Given the description of an element on the screen output the (x, y) to click on. 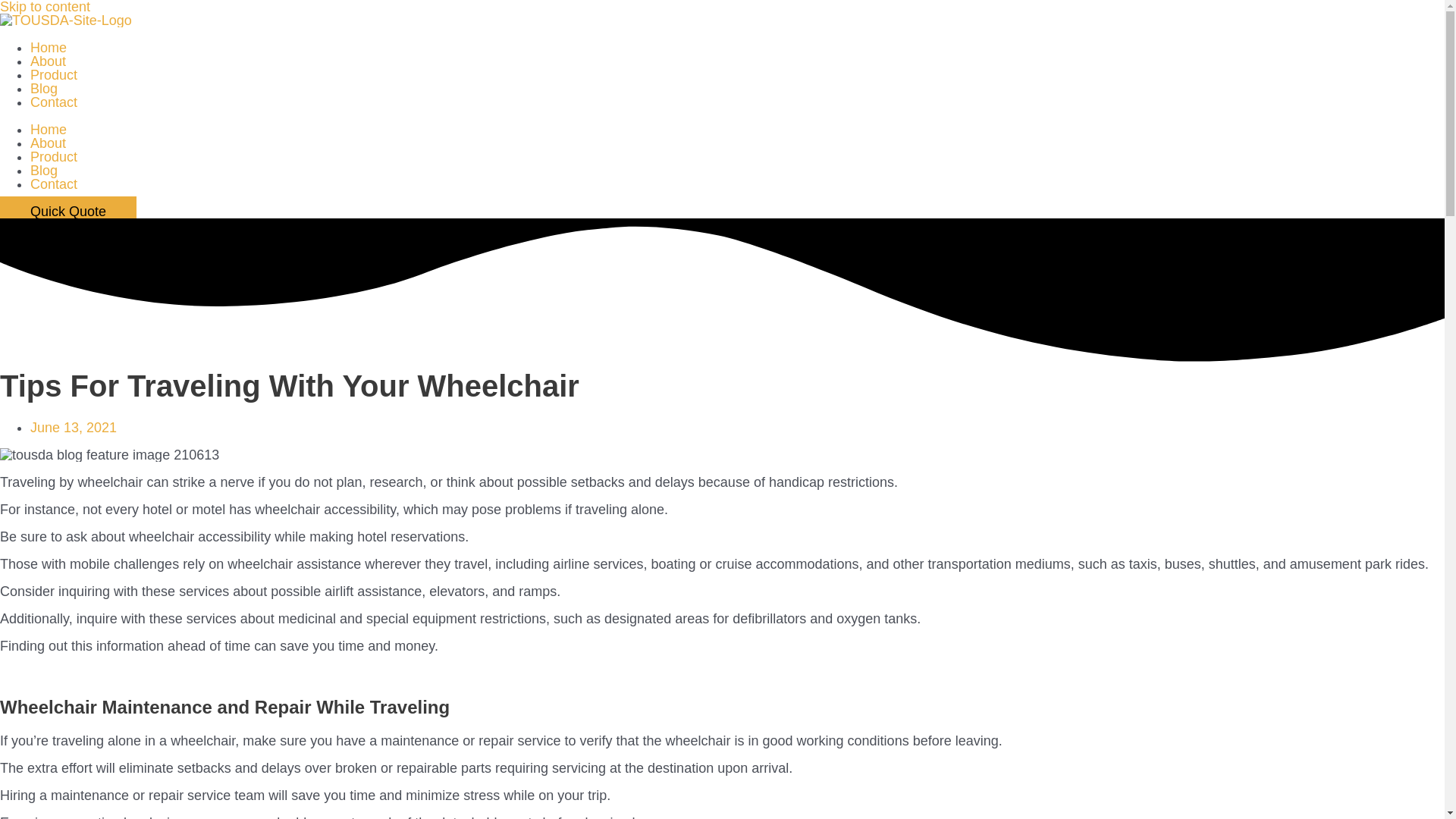
Contact (53, 183)
Quick Quote (68, 211)
Blog (44, 88)
Skip to content (45, 7)
Product (53, 74)
Home (48, 47)
Home (48, 129)
Product (53, 156)
June 13, 2021 (73, 427)
Contact (53, 102)
